Given the description of an element on the screen output the (x, y) to click on. 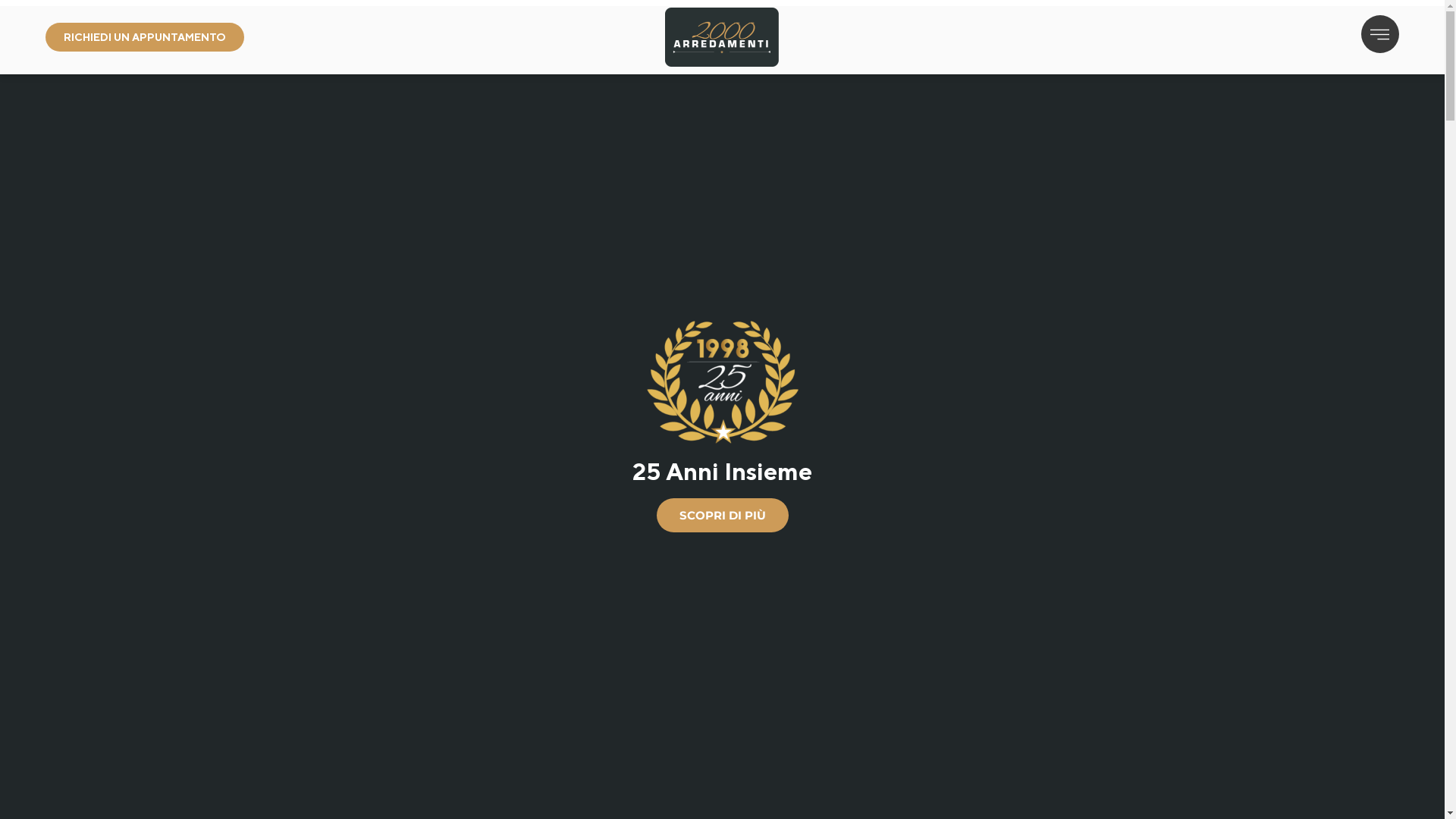
RICHIEDI UN APPUNTAMENTO Element type: text (144, 36)
